Given the description of an element on the screen output the (x, y) to click on. 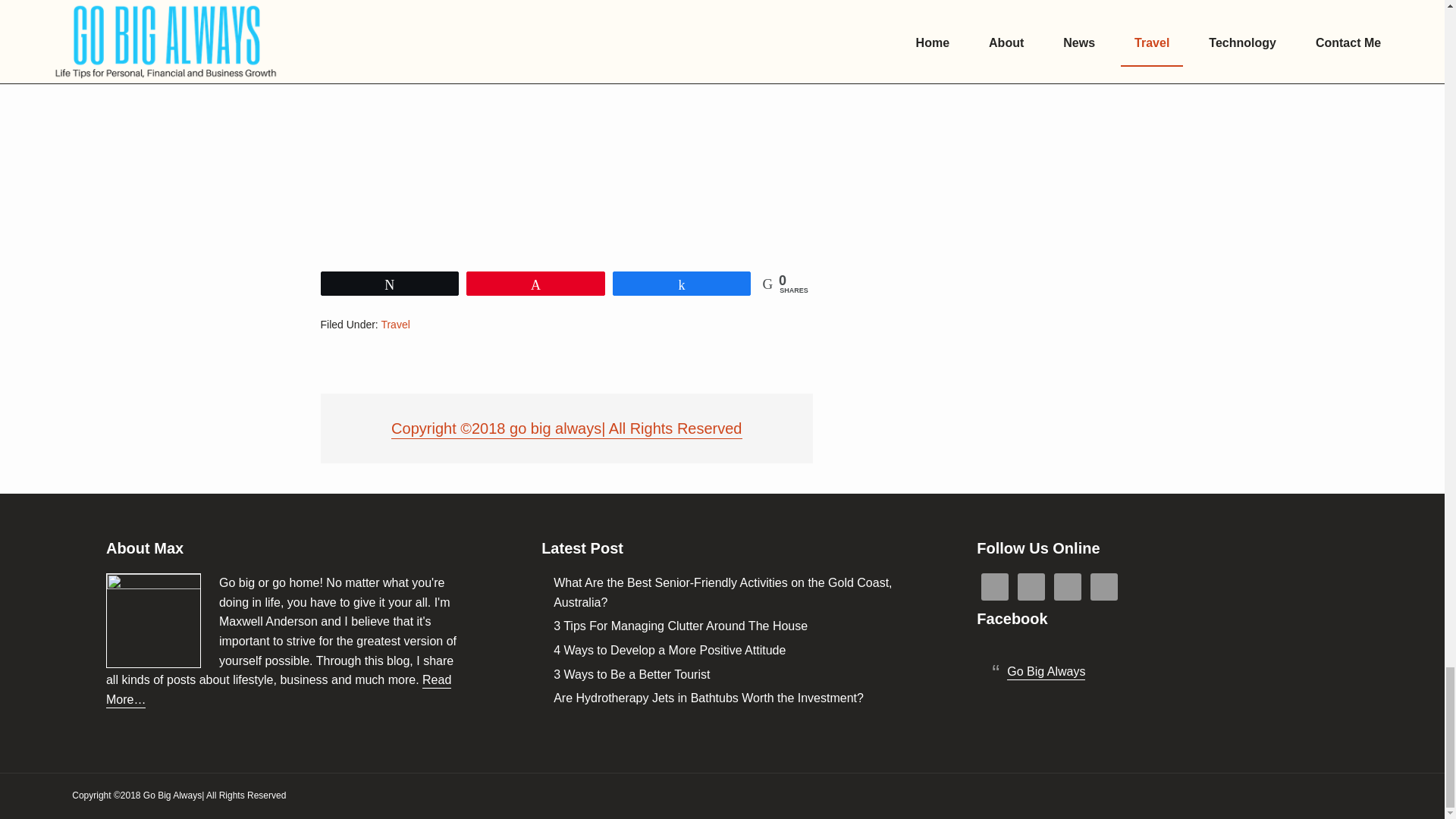
3 Ways to Be a Better Tourist (631, 675)
3 Tips For Managing Clutter Around The House (680, 626)
4 Ways to Develop a More Positive Attitude (669, 651)
Are Hydrotherapy Jets in Bathtubs Worth the Investment? (708, 698)
Travel (394, 325)
